Given the description of an element on the screen output the (x, y) to click on. 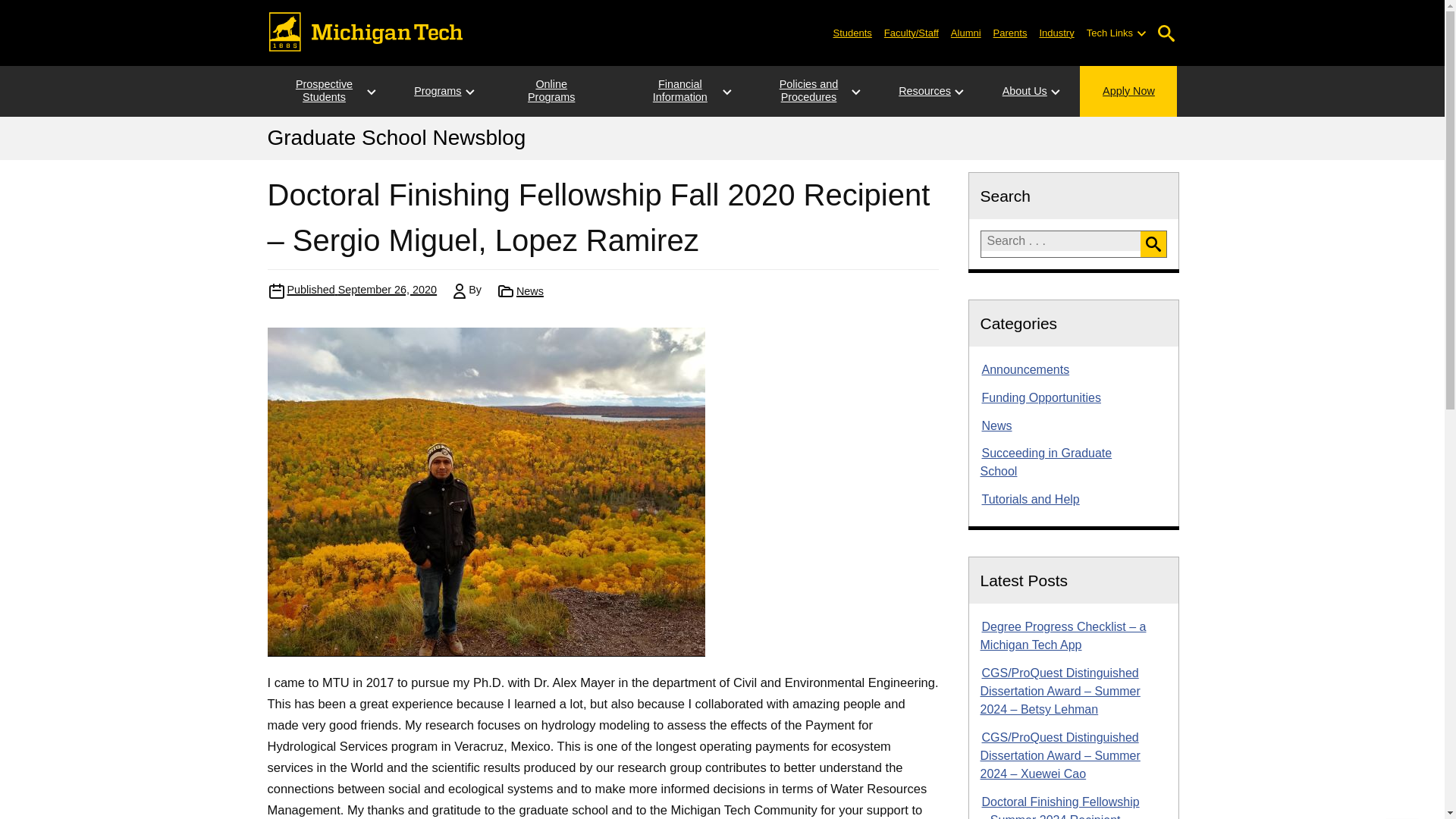
Prospective Students (323, 91)
Online Programs (551, 91)
Alumni (965, 32)
Students (852, 32)
Parents (1010, 32)
Programs (437, 91)
Industry (1056, 32)
Open Search (1166, 33)
Financial Information (679, 91)
